Given the description of an element on the screen output the (x, y) to click on. 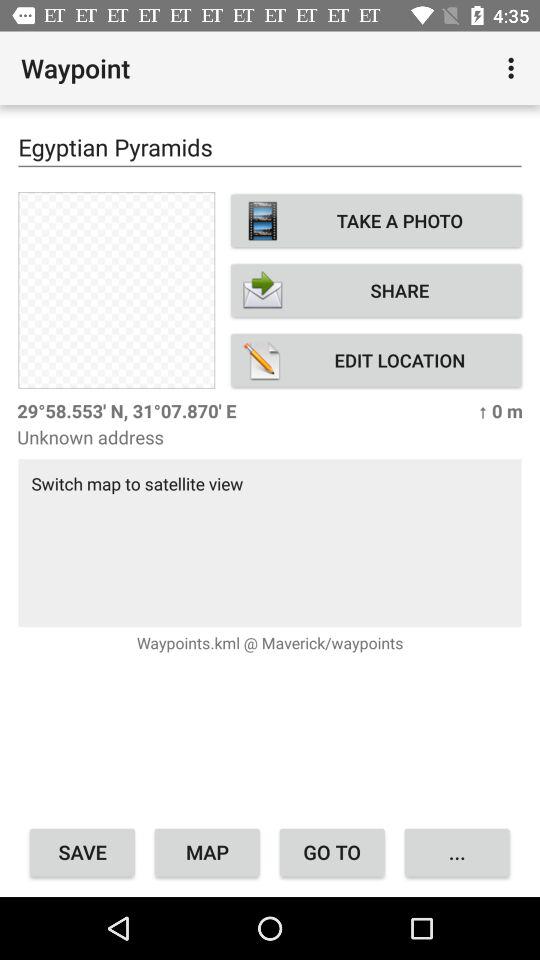
turn off the item below egyptian pyramids (116, 290)
